Given the description of an element on the screen output the (x, y) to click on. 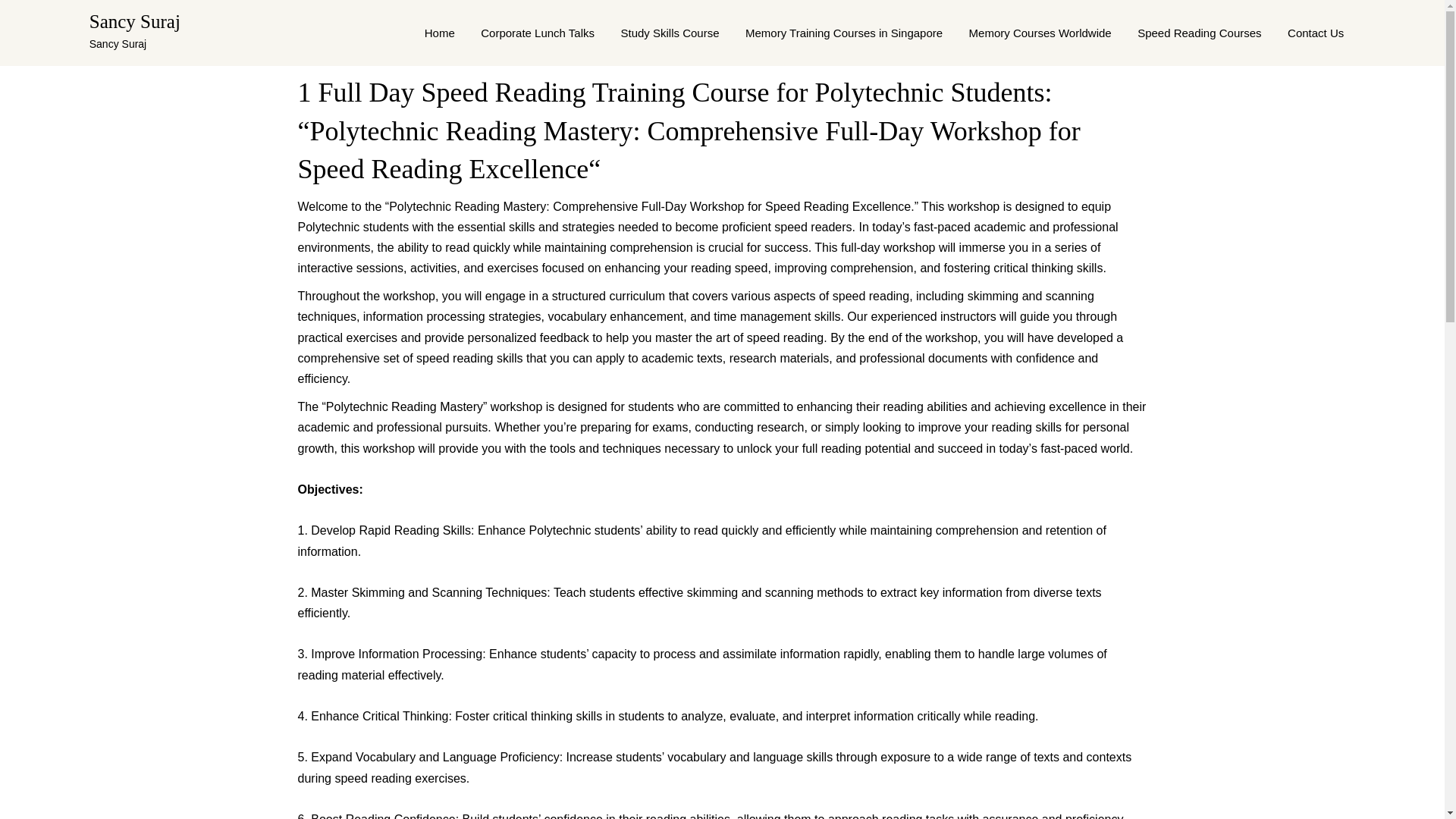
Memory Training Courses in Singapore (843, 33)
Sancy Suraj (134, 21)
Study Skills Course (669, 33)
Contact Us (1315, 33)
Speed Reading Courses (1198, 33)
Home (439, 33)
Memory Courses Worldwide (1040, 33)
Corporate Lunch Talks (536, 33)
